Given the description of an element on the screen output the (x, y) to click on. 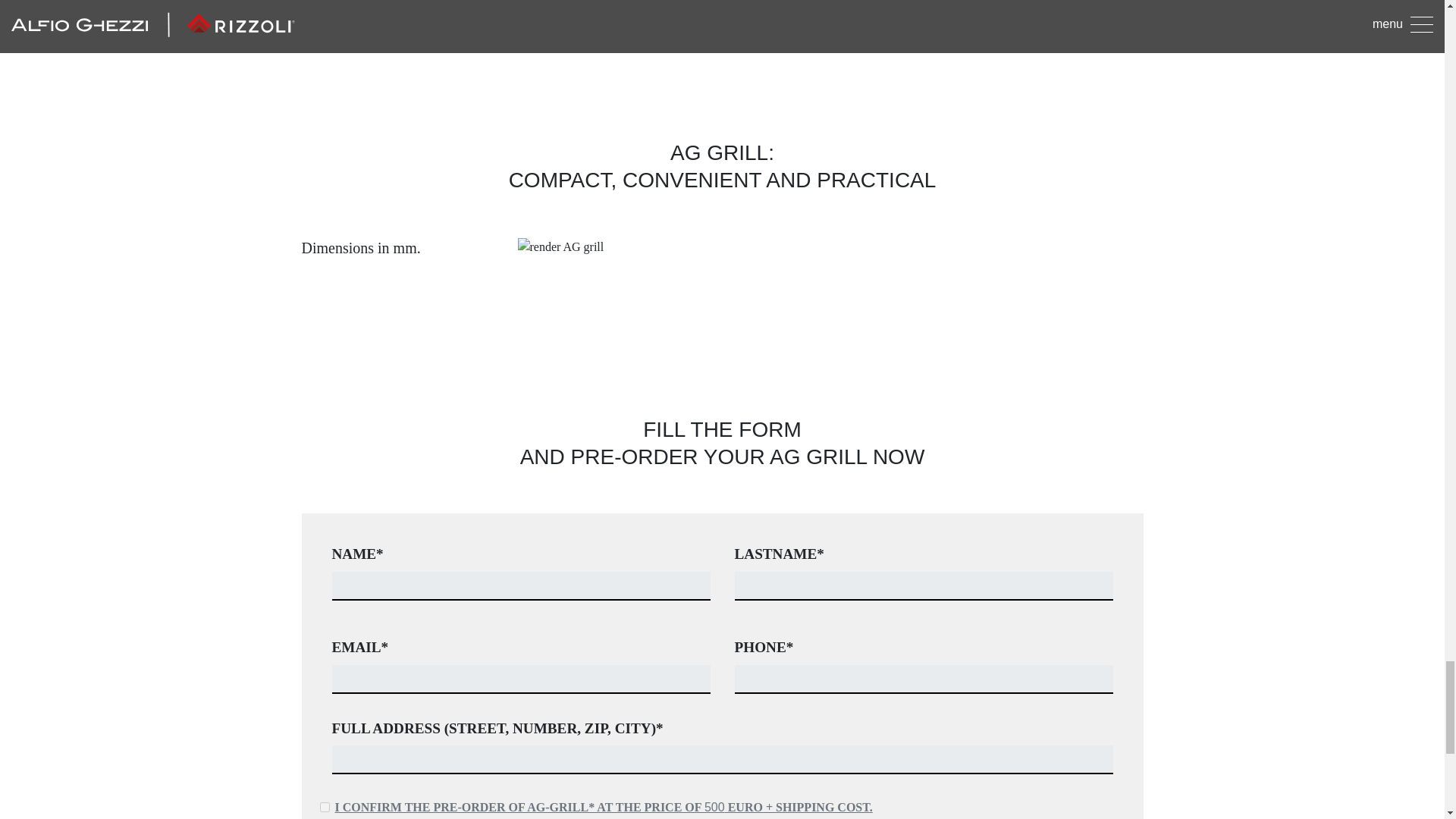
on (325, 807)
